Given the description of an element on the screen output the (x, y) to click on. 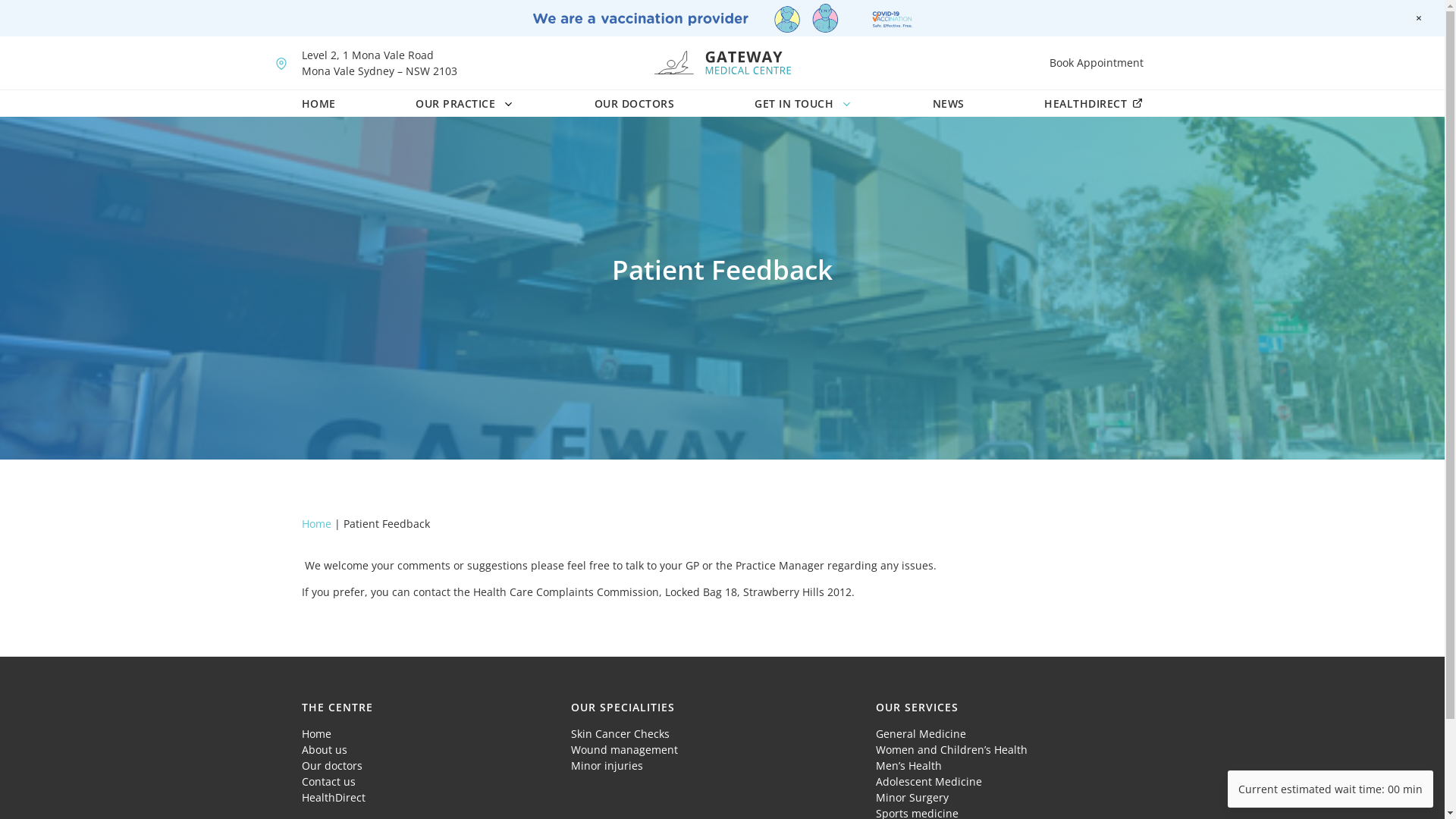
HEALTHDIRECT Element type: text (1093, 103)
NEWS Element type: text (948, 103)
OUR DOCTORS Element type: text (634, 103)
Our doctors Element type: text (331, 765)
Home Element type: text (316, 733)
GET IN TOUCH Element type: text (803, 103)
About us Element type: text (324, 749)
Home Element type: text (317, 523)
Contact us Element type: text (328, 781)
HOME Element type: text (318, 103)
HealthDirect Element type: text (333, 797)
OUR PRACTICE Element type: text (464, 103)
Book Appointment Element type: text (1096, 62)
